Given the description of an element on the screen output the (x, y) to click on. 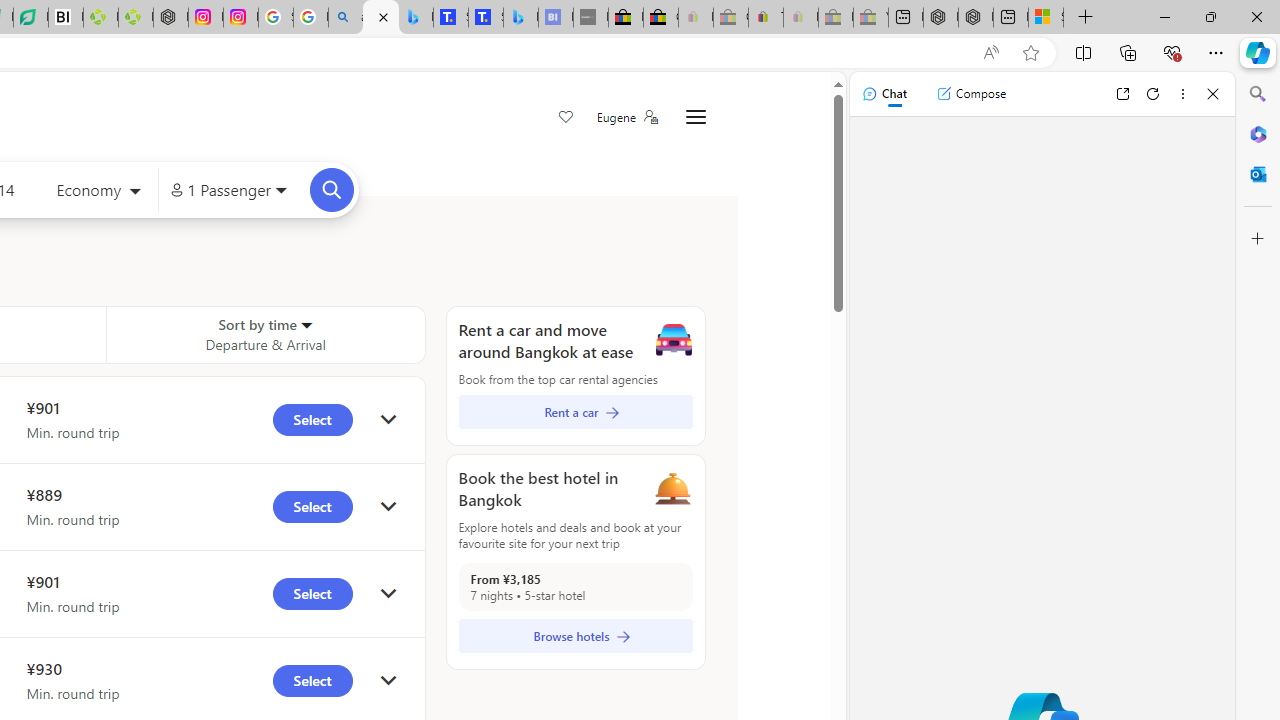
Payments Terms of Use | eBay.com - Sleeping (800, 17)
LendingTree - Compare Lenders (31, 17)
Shangri-La Bangkok, Hotel reviews and Room rates (485, 17)
Select class of service (98, 192)
Sign in to your Microsoft account (1046, 17)
Nvidia va a poner a prueba la paciencia de los inversores (65, 17)
